Given the description of an element on the screen output the (x, y) to click on. 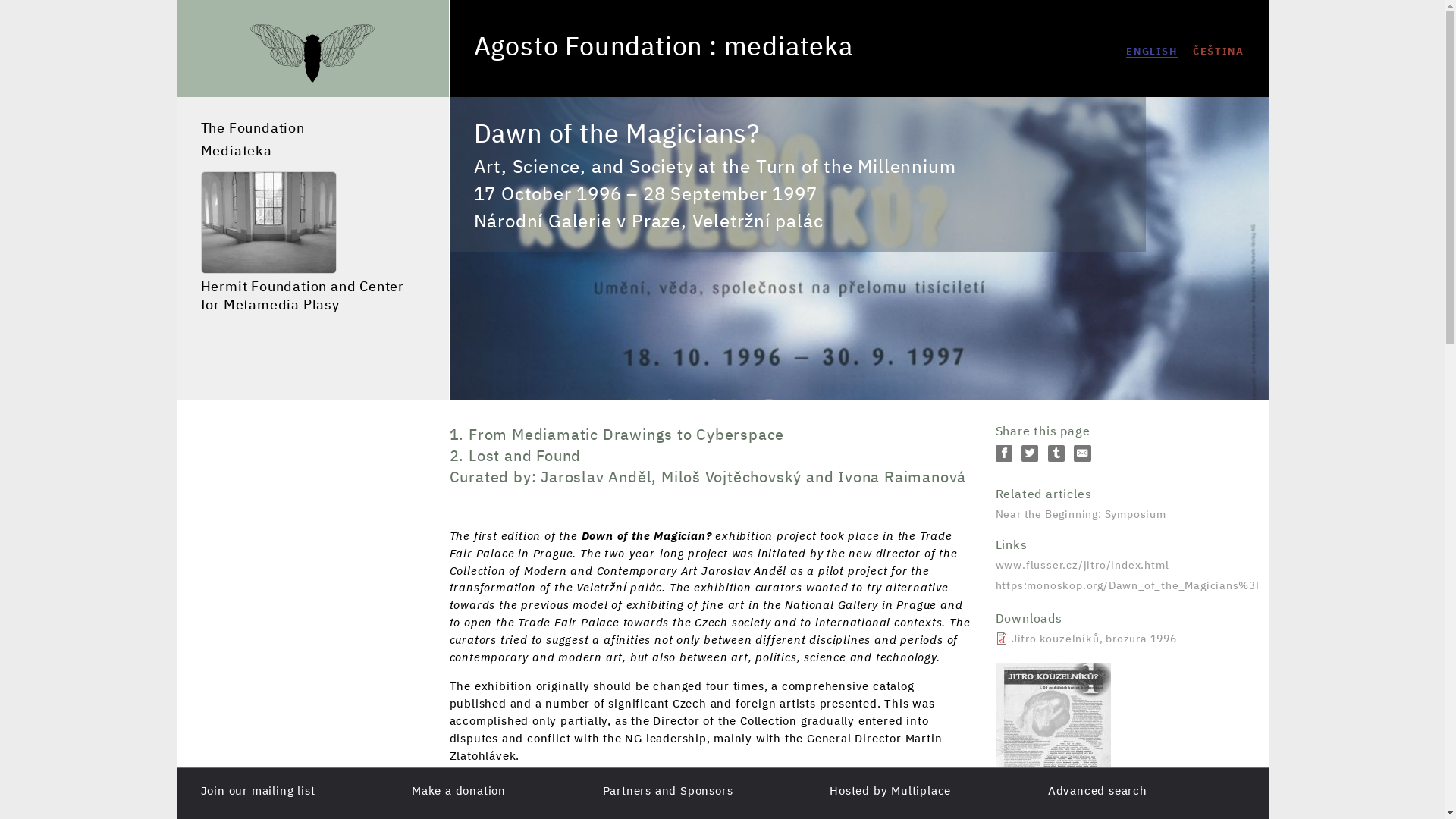
Dawn of the Magicians? (1150, 51)
Hermit Foundation and Center for Metamedia Plasy (311, 242)
Agosto Foundation (587, 48)
-plasy-improved.jpg (268, 222)
ENGLISH (1150, 51)
1996jitrokouzelni.pdf (1118, 629)
The Foundation (311, 128)
Home (587, 48)
Mediateka (311, 151)
mediateka (788, 48)
